Given the description of an element on the screen output the (x, y) to click on. 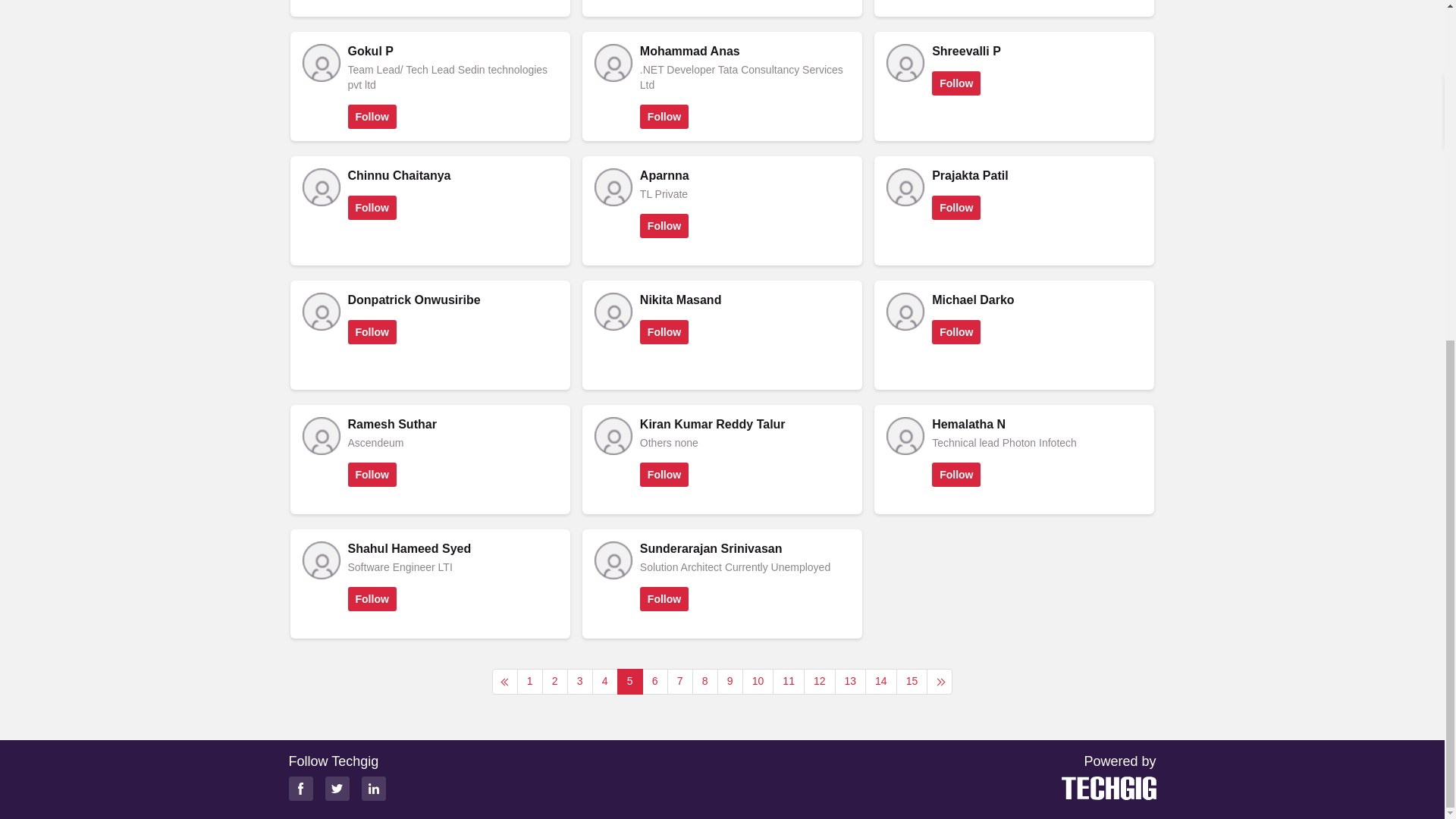
Follow (371, 116)
Follow (664, 116)
